Given the description of an element on the screen output the (x, y) to click on. 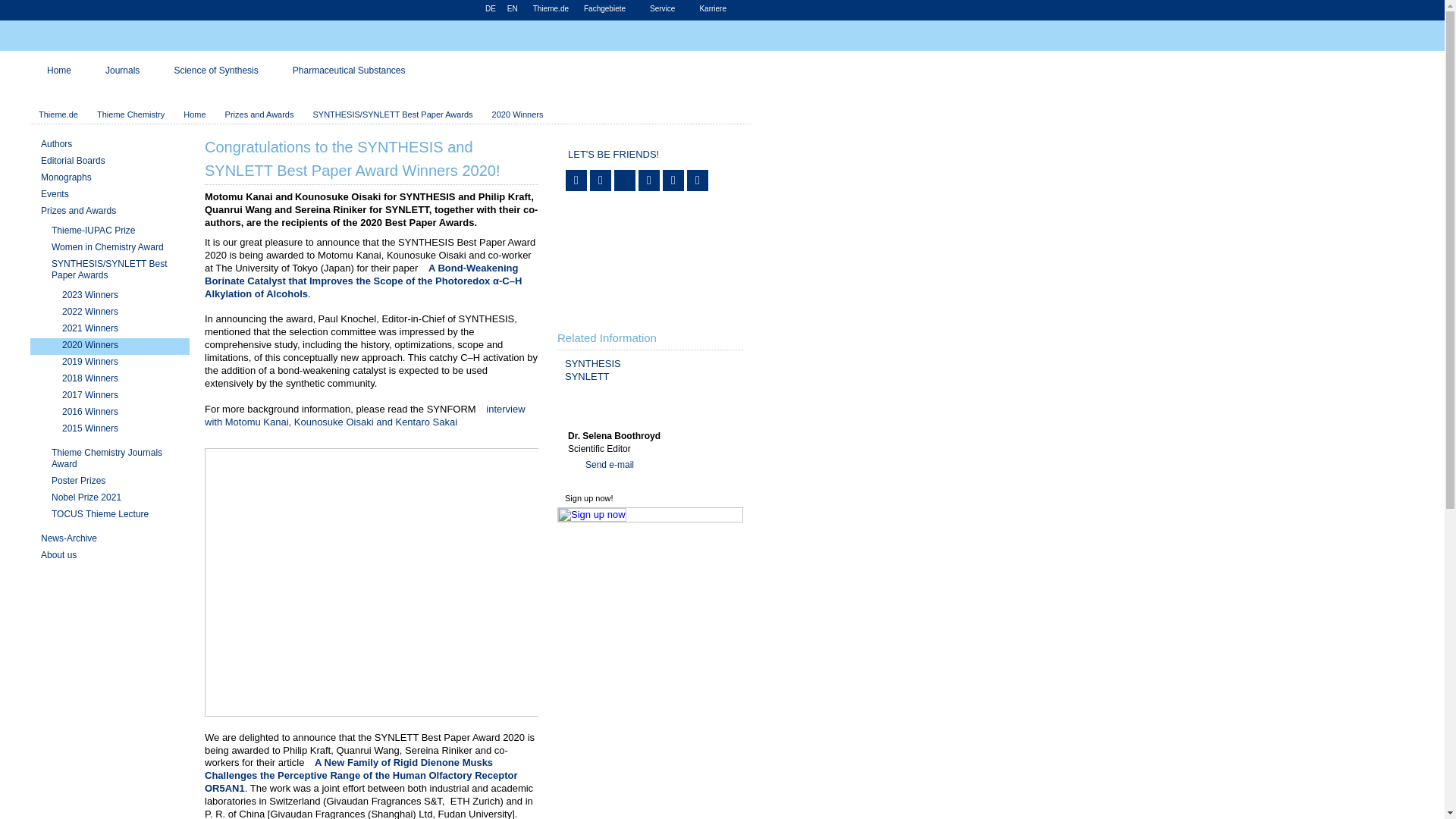
Fachgebiete (608, 8)
Karriere (716, 8)
Service (666, 8)
Karriere (716, 8)
Thieme.de (550, 8)
Thieme.de (550, 8)
Home (59, 76)
Service (666, 8)
Fachgebiete (608, 8)
Journals (122, 76)
Deutsch (490, 8)
Science of Synthesis (216, 76)
DE (490, 8)
Thieme (135, 35)
